Given the description of an element on the screen output the (x, y) to click on. 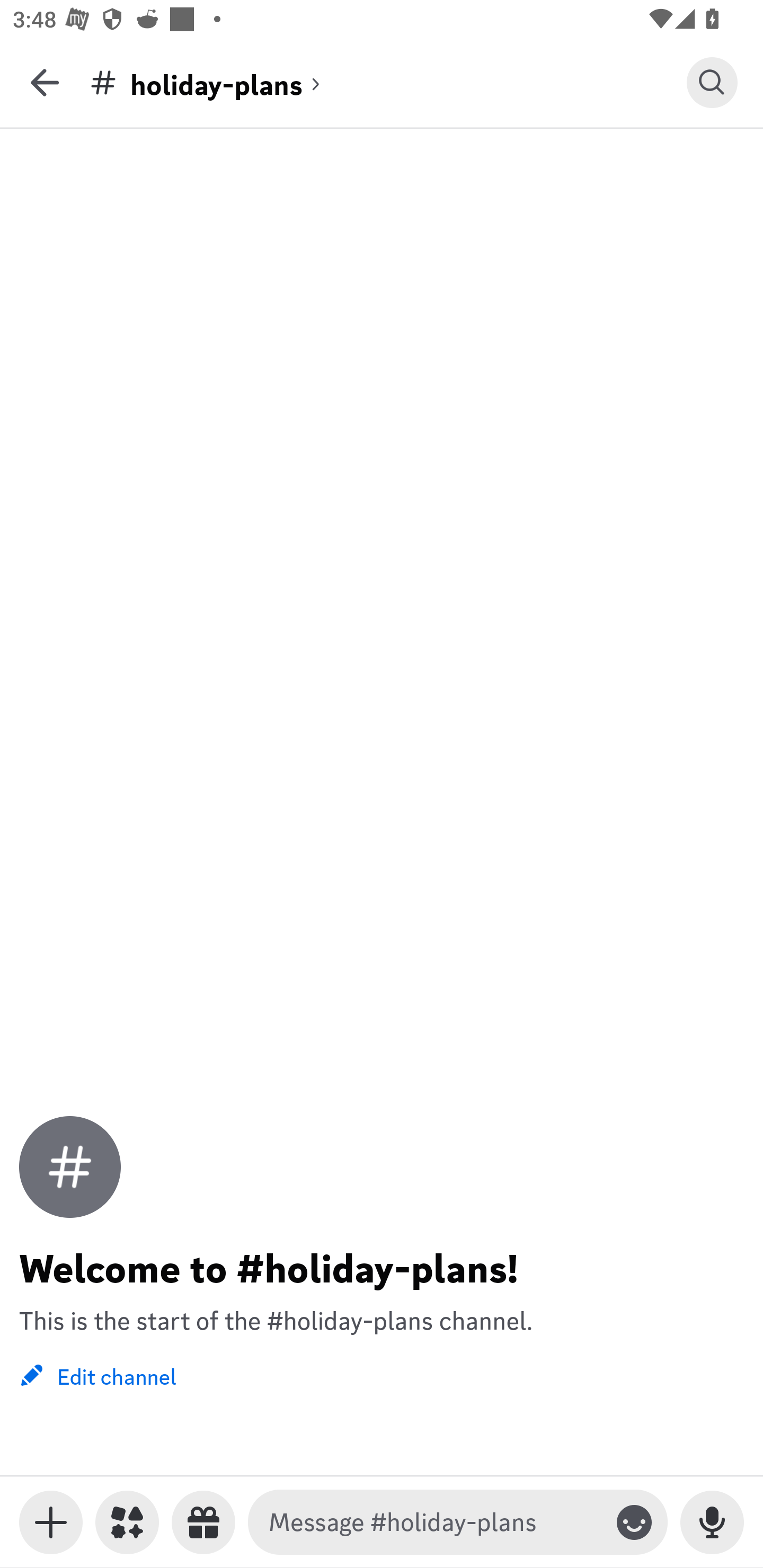
Back (44, 82)
Search (711, 82)
Edit channel (97, 1375)
Toggle media keyboard (50, 1522)
Apps (126, 1522)
Send a gift (203, 1522)
Record Voice Message (711, 1522)
Message #holiday-plans (433, 1522)
Toggle emoji keyboard (634, 1522)
